Given the description of an element on the screen output the (x, y) to click on. 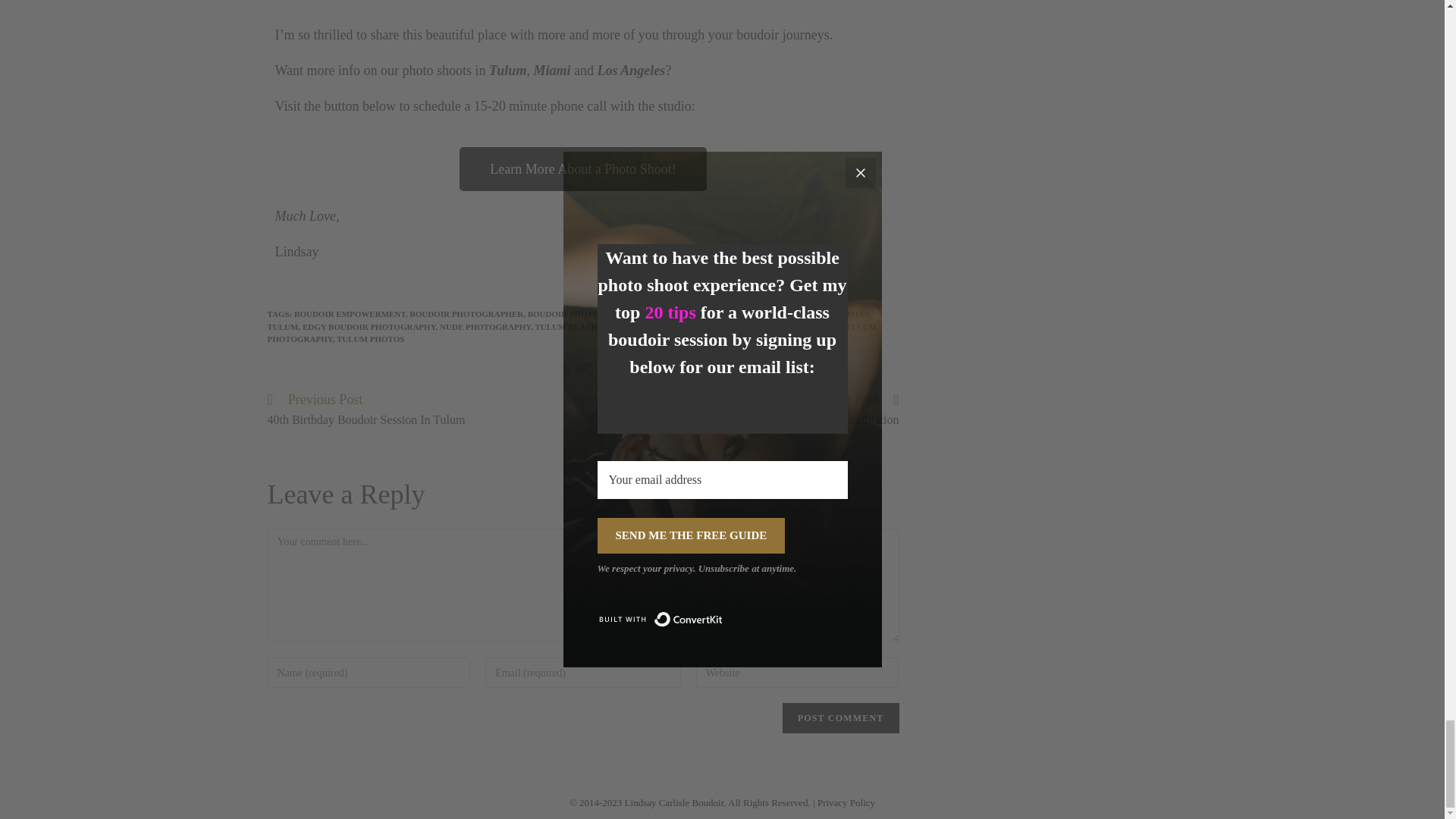
EDGY BOUDOIR PHOTOGRAPHY (368, 326)
TULUM PHOTOS (370, 338)
Tulum (507, 70)
Los Angeles (748, 410)
CENOTES TULUM (630, 70)
Miami  (567, 320)
TULUM BEACH PHOTOS (552, 70)
Post Comment (584, 326)
BOUDOIR PHOTOGRAPHY (841, 717)
NUDE PHOTOGRAPHY (580, 313)
TULUM PHOTOGRAPHY (485, 326)
BOUDOIR PHOTOGRAPHER (571, 332)
BOUDOIR EMPOWERMENT (465, 313)
Learn More About a Photo Shoot! (350, 313)
